Given the description of an element on the screen output the (x, y) to click on. 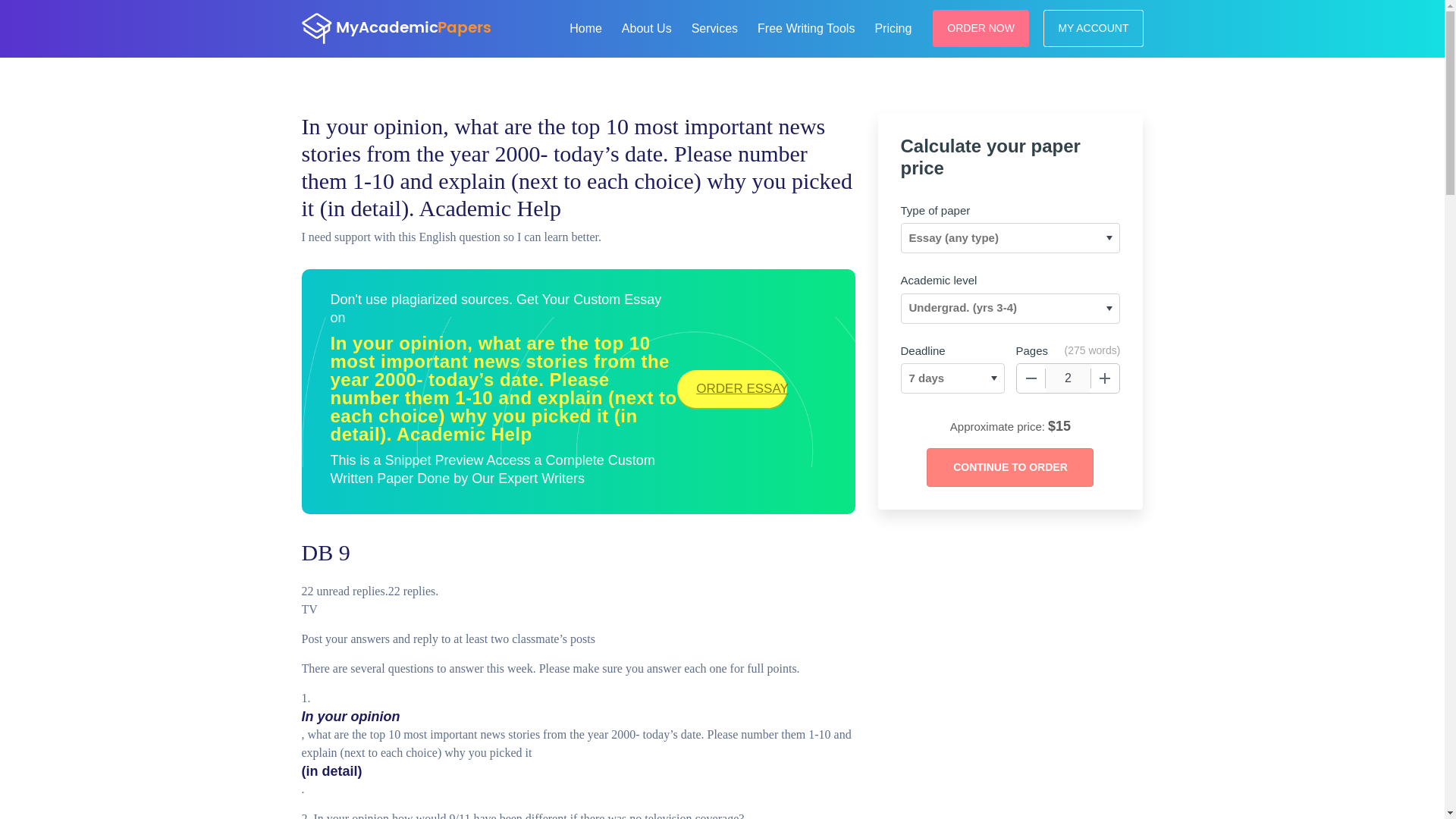
About Us (646, 26)
About Us (646, 26)
ORDER NOW (981, 27)
Home (585, 26)
Pricing (892, 26)
Pricing (892, 26)
Free Writing Tools (805, 26)
Continue to order (1009, 466)
Home (585, 26)
Free Writing Tools (805, 26)
MY ACCOUNT (1092, 27)
Services (714, 26)
Continue to order (1009, 466)
Increase (1104, 378)
Services (714, 26)
